Given the description of an element on the screen output the (x, y) to click on. 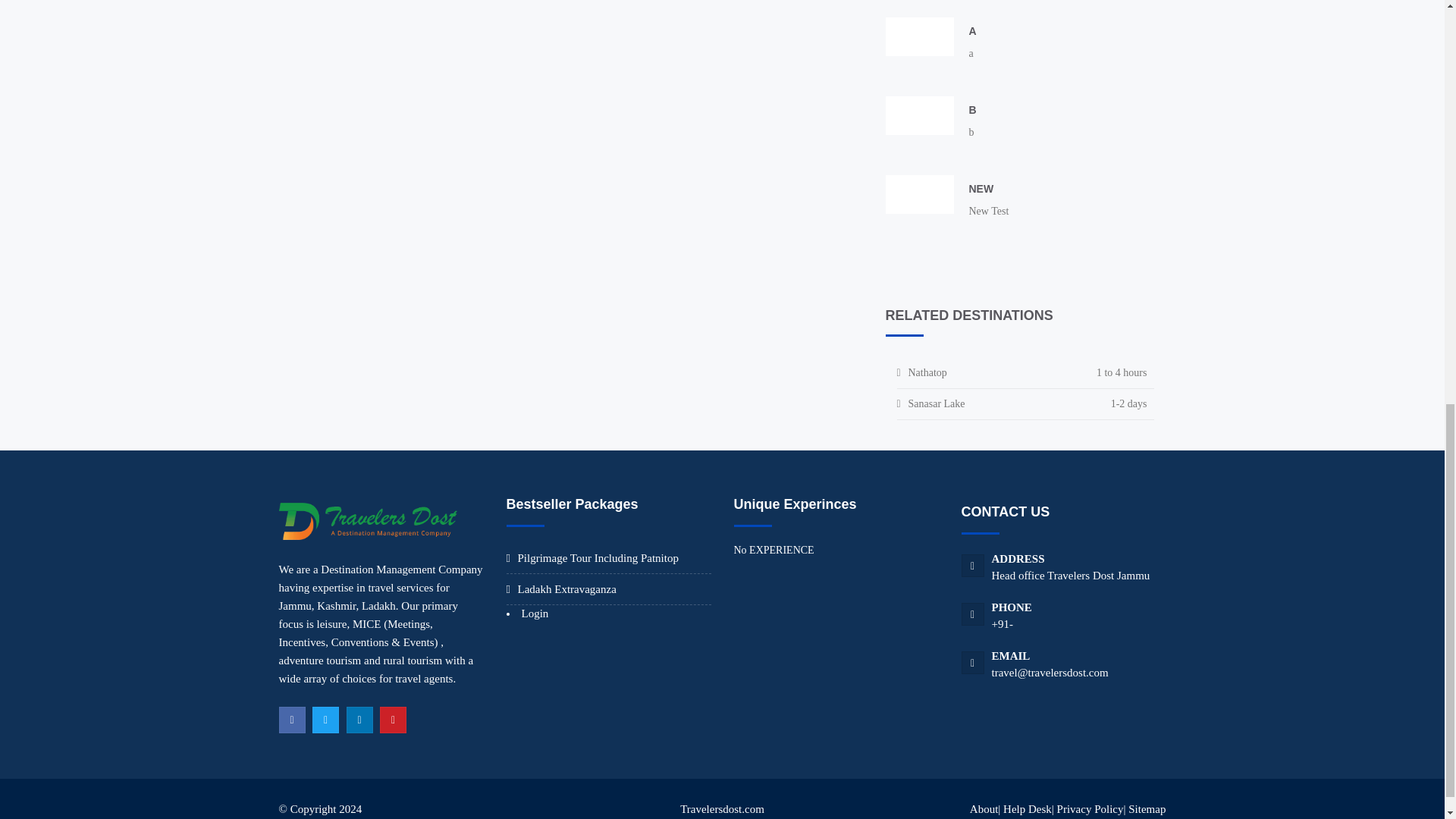
YouTube video player (919, 194)
YouTube video player (919, 36)
YouTube video player (919, 115)
